Given the description of an element on the screen output the (x, y) to click on. 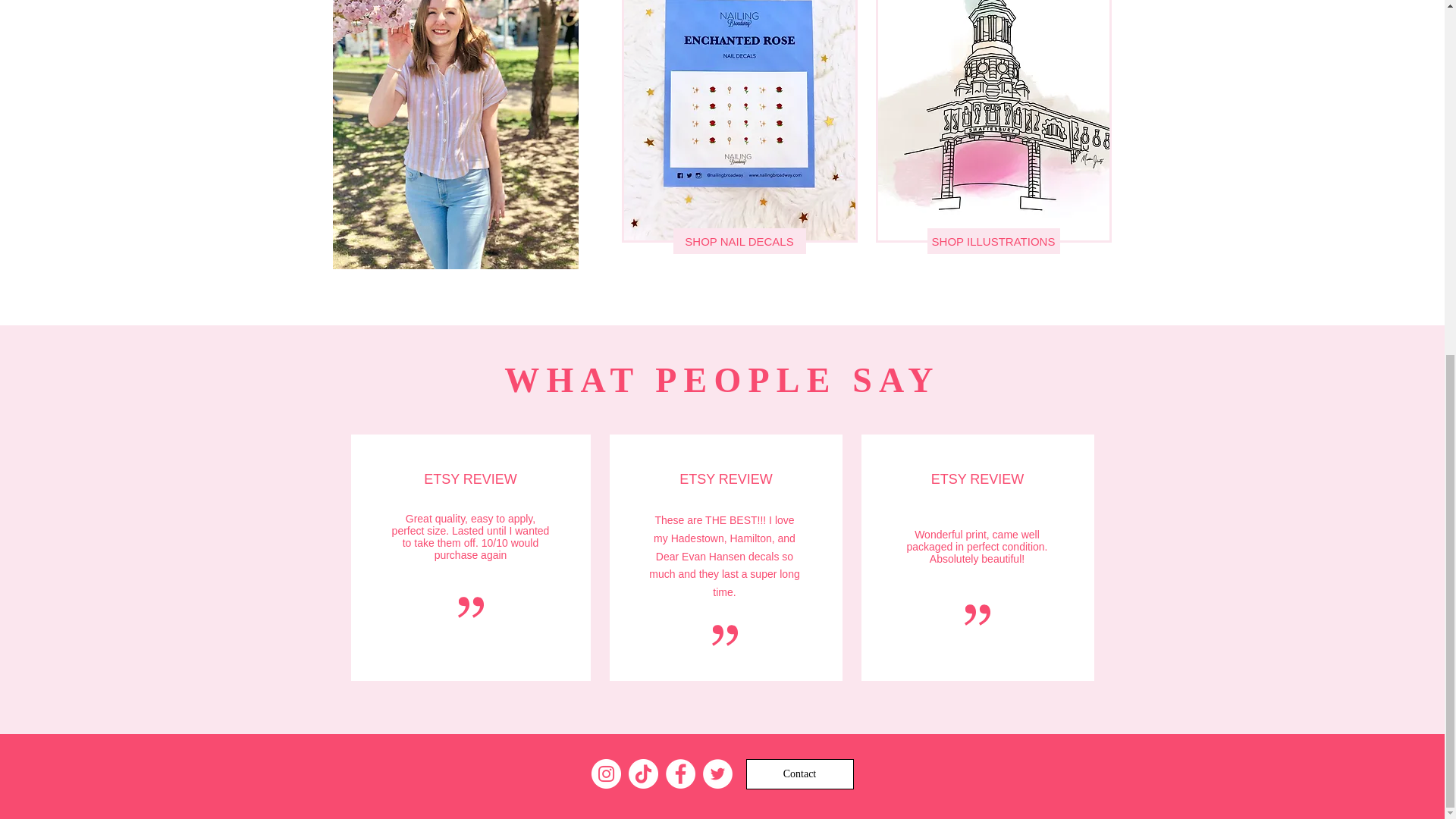
SHOP ILLUSTRATIONS (992, 240)
SHOP NAIL DECALS (739, 240)
Contact (799, 774)
